Given the description of an element on the screen output the (x, y) to click on. 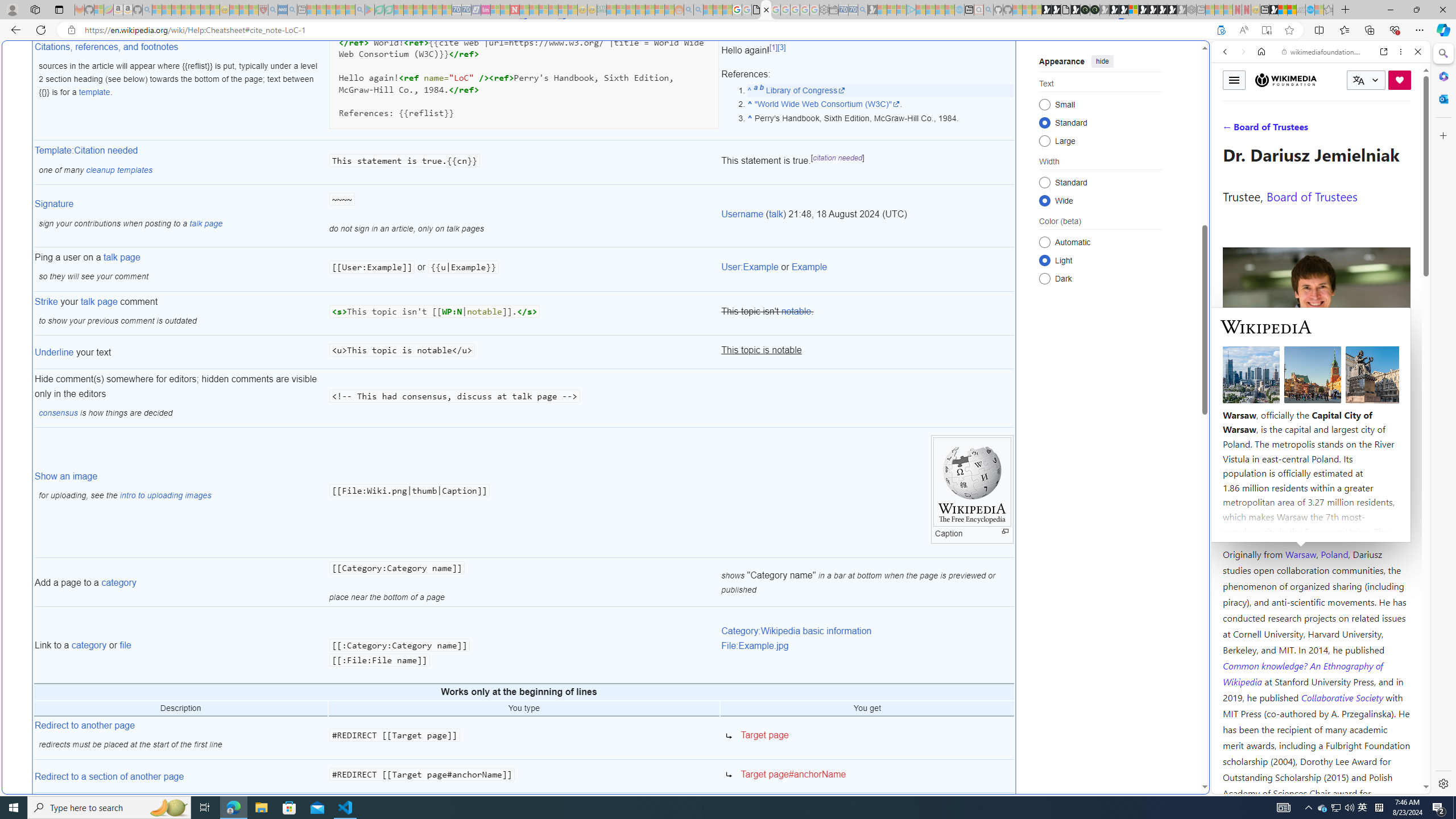
 Category:Wikipedia basic information File:Example.jpg  (866, 645)
intro to uploading images (165, 495)
Description (180, 708)
